Given the description of an element on the screen output the (x, y) to click on. 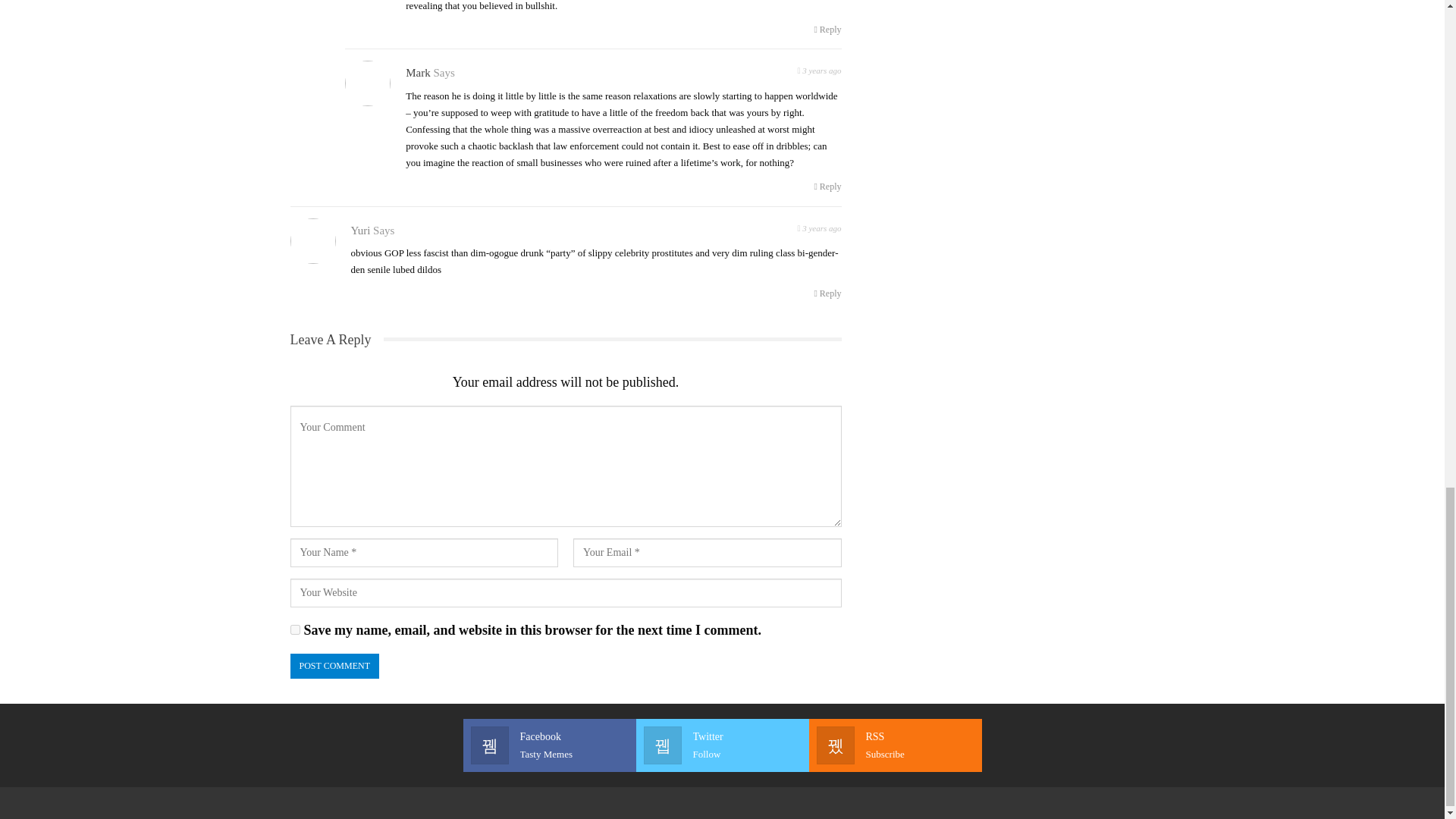
Reply (827, 293)
Post Comment (894, 745)
Post Comment (333, 665)
Mark (333, 665)
Reply (418, 72)
Friday, March 12, 2021, 4:30 am (827, 29)
yes (818, 68)
Reply (294, 629)
Friday, March 12, 2021, 9:59 am (827, 186)
